Given the description of an element on the screen output the (x, y) to click on. 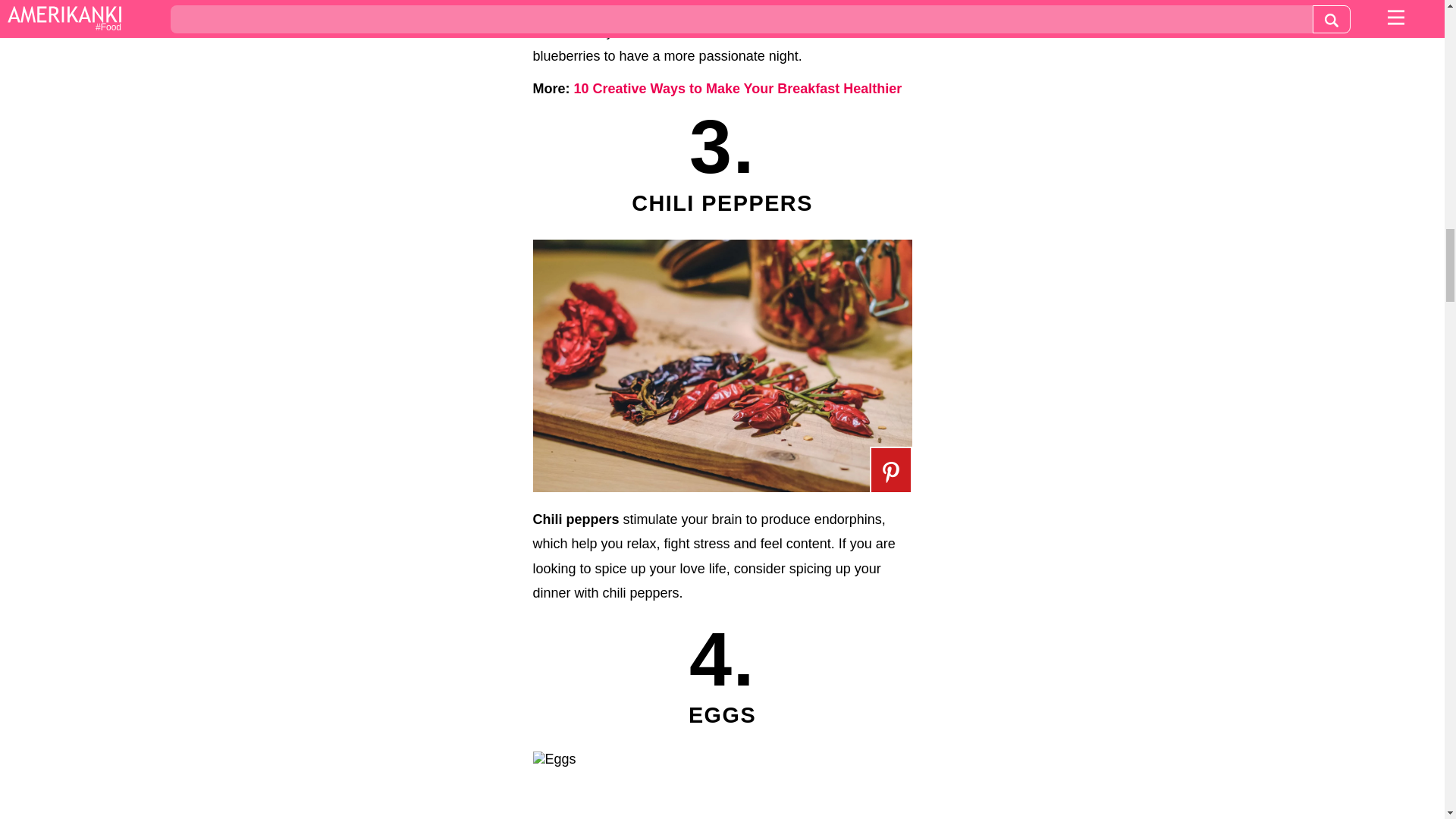
10 Creative Ways to Make Your Breakfast Healthier (737, 88)
